Given the description of an element on the screen output the (x, y) to click on. 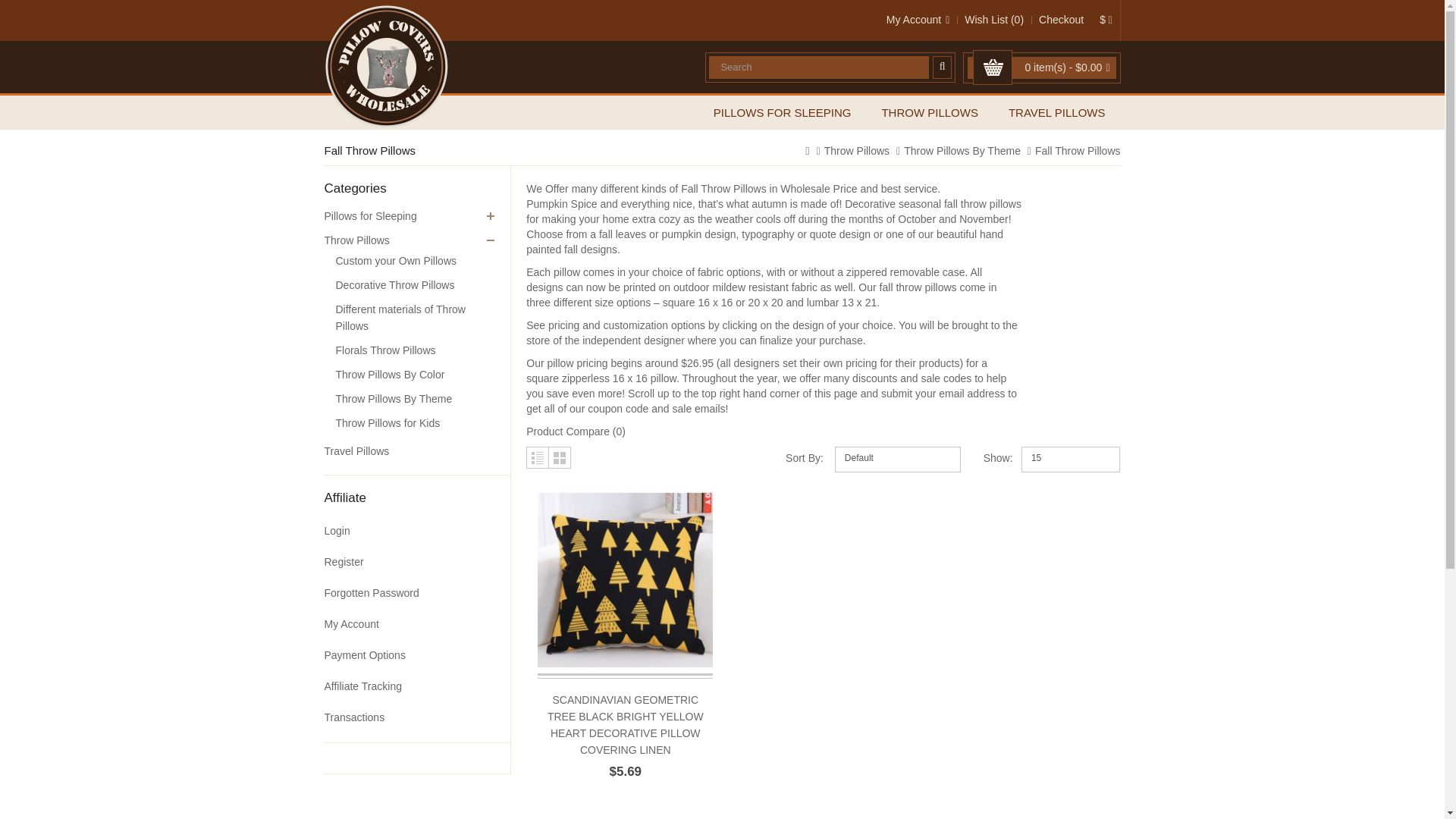
Checkout (1061, 19)
My Account (918, 19)
THROW PILLOWS (929, 112)
Checkout (1061, 19)
My Account (918, 19)
PILLOWS FOR SLEEPING (782, 112)
